Given the description of an element on the screen output the (x, y) to click on. 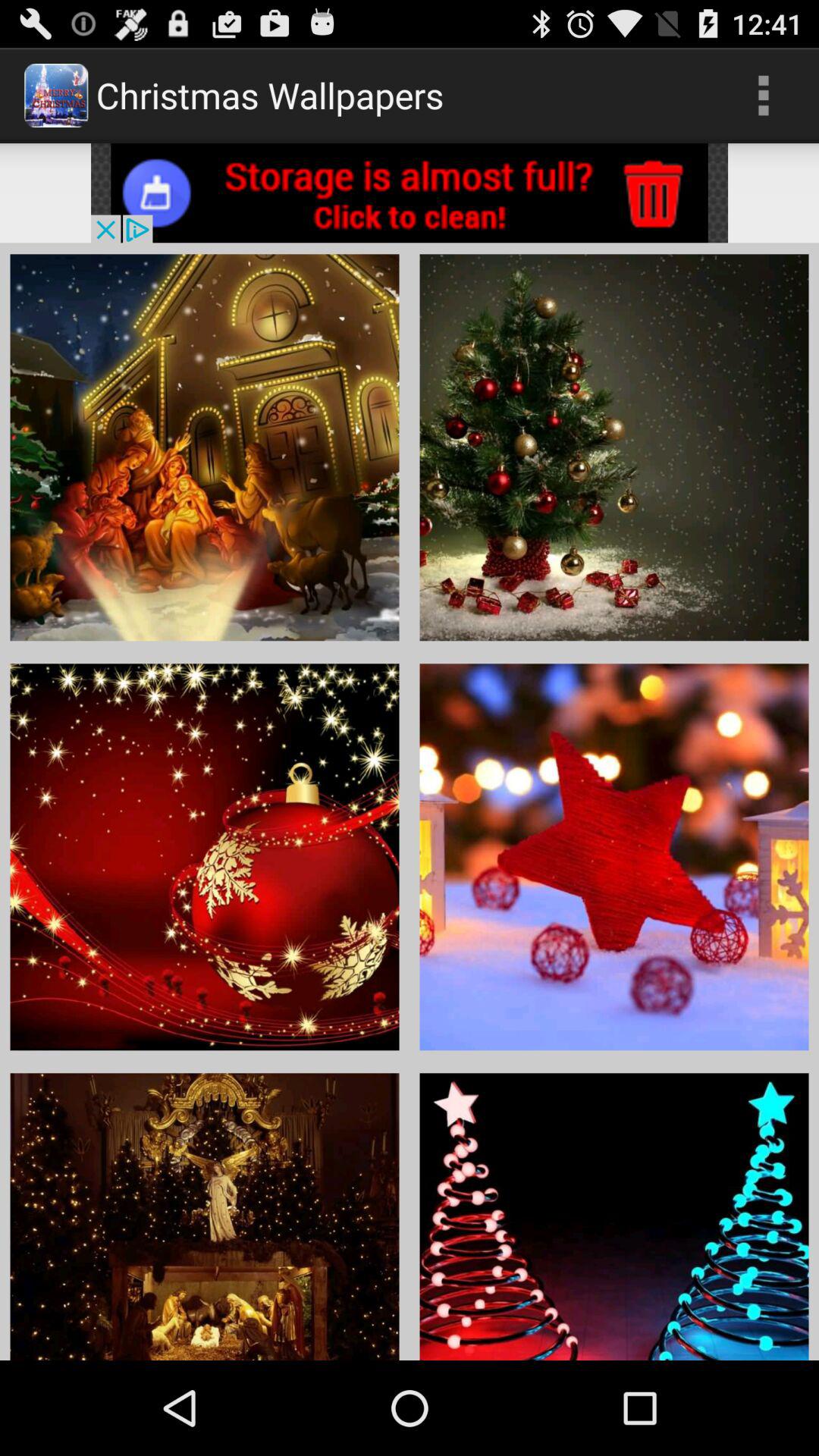
delete (409, 192)
